Given the description of an element on the screen output the (x, y) to click on. 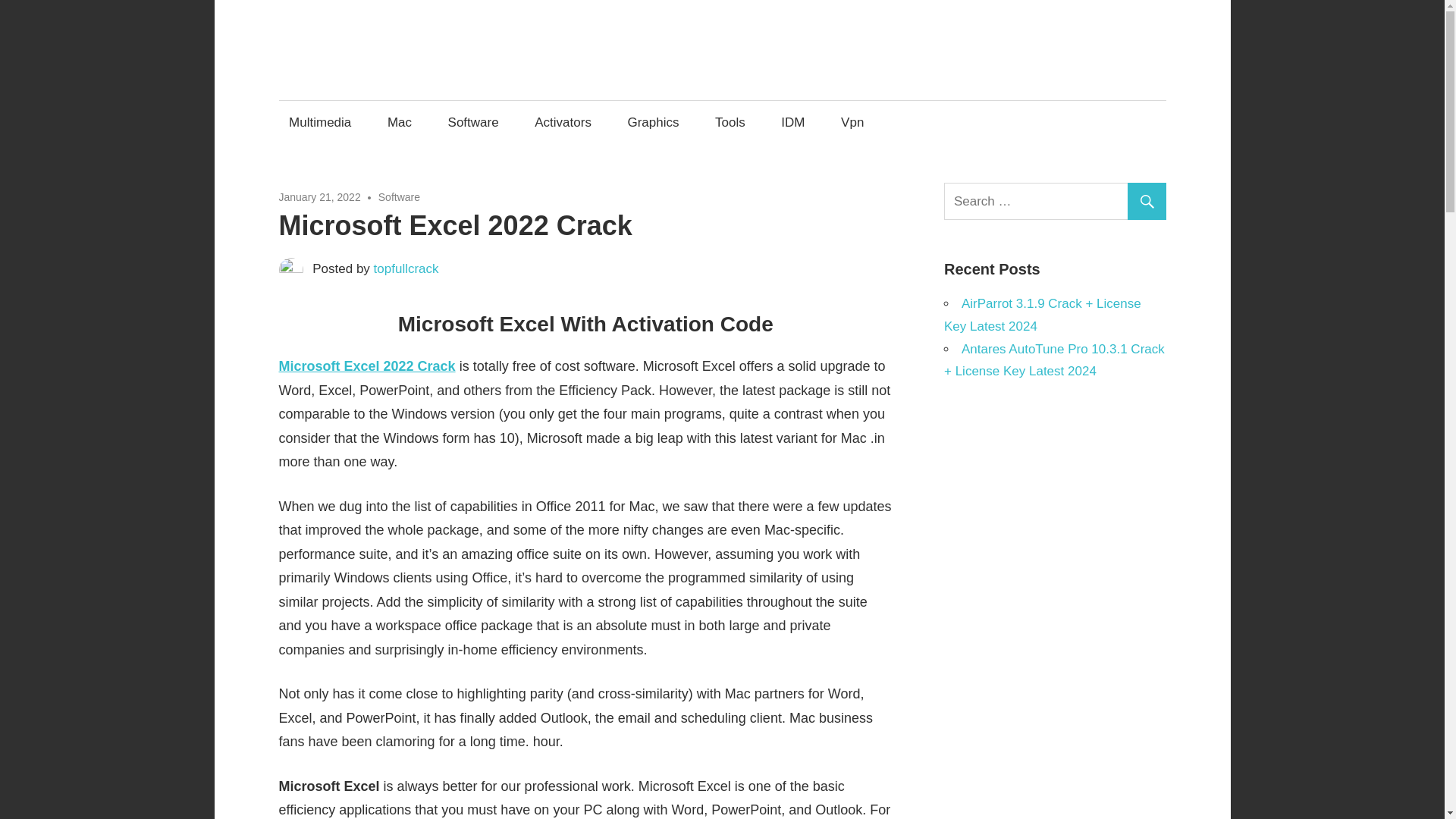
IDM (793, 121)
January 21, 2022 (320, 196)
Microsoft Excel 2022 Crack (367, 365)
6:22 pm (320, 196)
Multimedia (320, 121)
Search for: (1057, 201)
View all posts by topfullcrack (406, 268)
Vpn (853, 121)
Mac (399, 121)
Tools (729, 121)
Software (399, 196)
Activators (563, 121)
Graphics (652, 121)
Software (473, 121)
topfullcrack (406, 268)
